Given the description of an element on the screen output the (x, y) to click on. 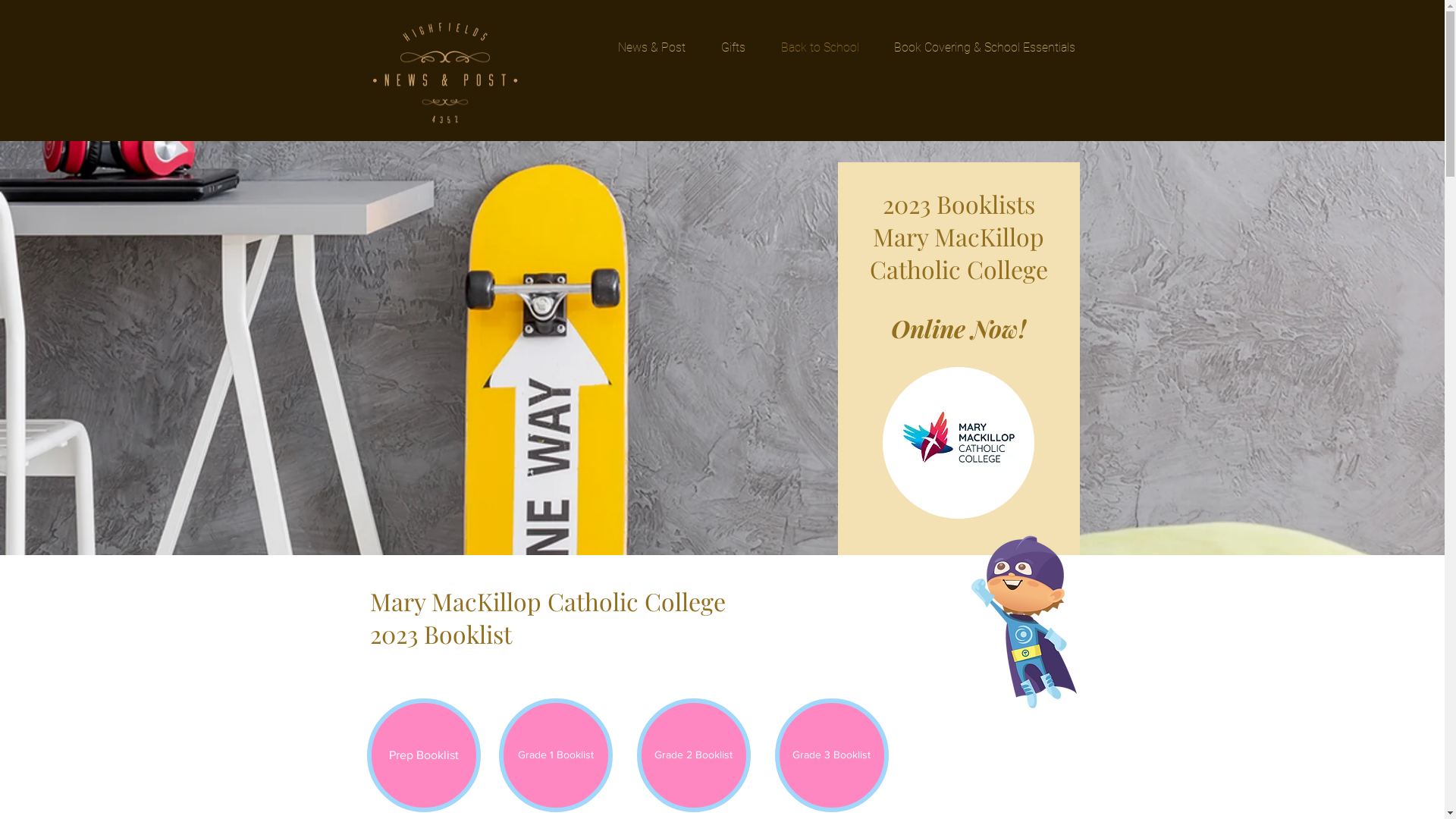
Back to School Element type: text (818, 47)
Prep Booklist Element type: text (423, 755)
Gifts Element type: text (733, 47)
Grade 2 Booklist Element type: text (693, 755)
News & Post Element type: text (651, 47)
Book Covering & School Essentials Element type: text (984, 47)
Grade 1 Booklist Element type: text (555, 755)
Grade 3 Booklist Element type: text (831, 755)
